Given the description of an element on the screen output the (x, y) to click on. 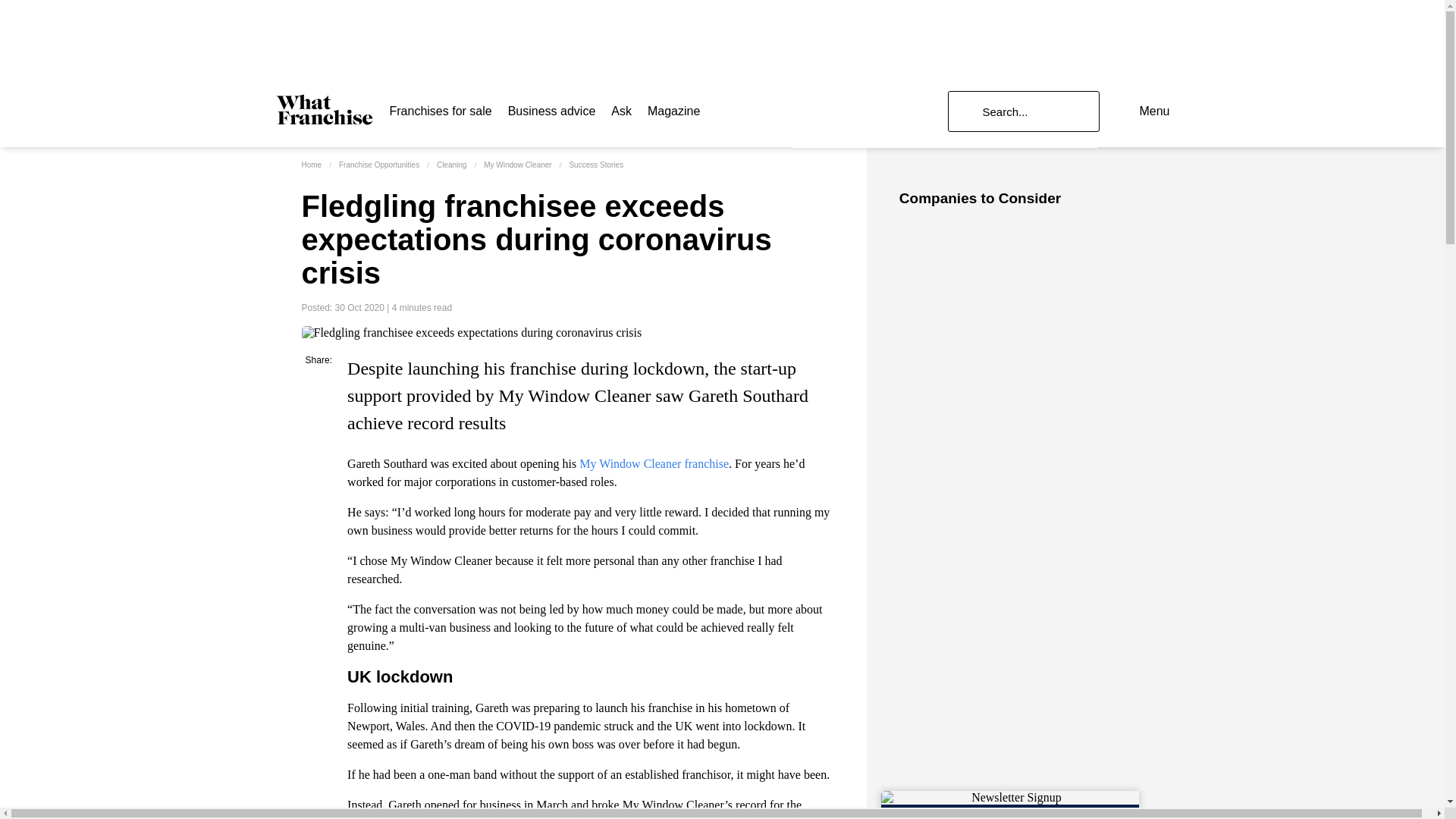
Success Stories (596, 164)
Franchise Opportunities (379, 164)
Home (311, 164)
Ask (621, 110)
Cleaning (450, 164)
My Window Cleaner (517, 164)
Franchises for sale (441, 110)
Magazine (673, 110)
Business advice (551, 110)
